Given the description of an element on the screen output the (x, y) to click on. 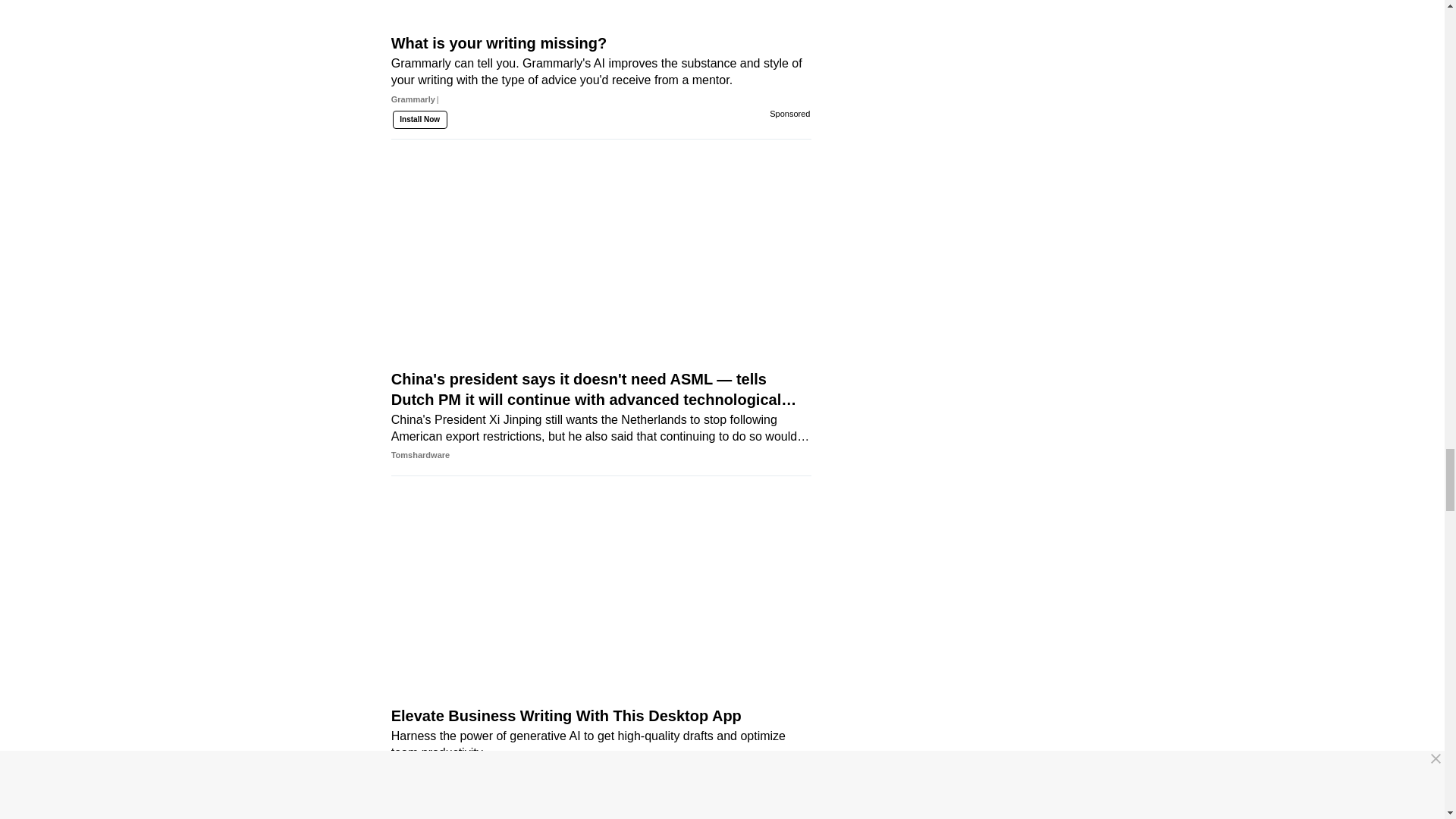
What is your writing missing? (600, 27)
Elevate Business Writing With This Desktop App (600, 621)
Elevate Business Writing With This Desktop App (600, 771)
What is your writing missing? (600, 99)
